Given the description of an element on the screen output the (x, y) to click on. 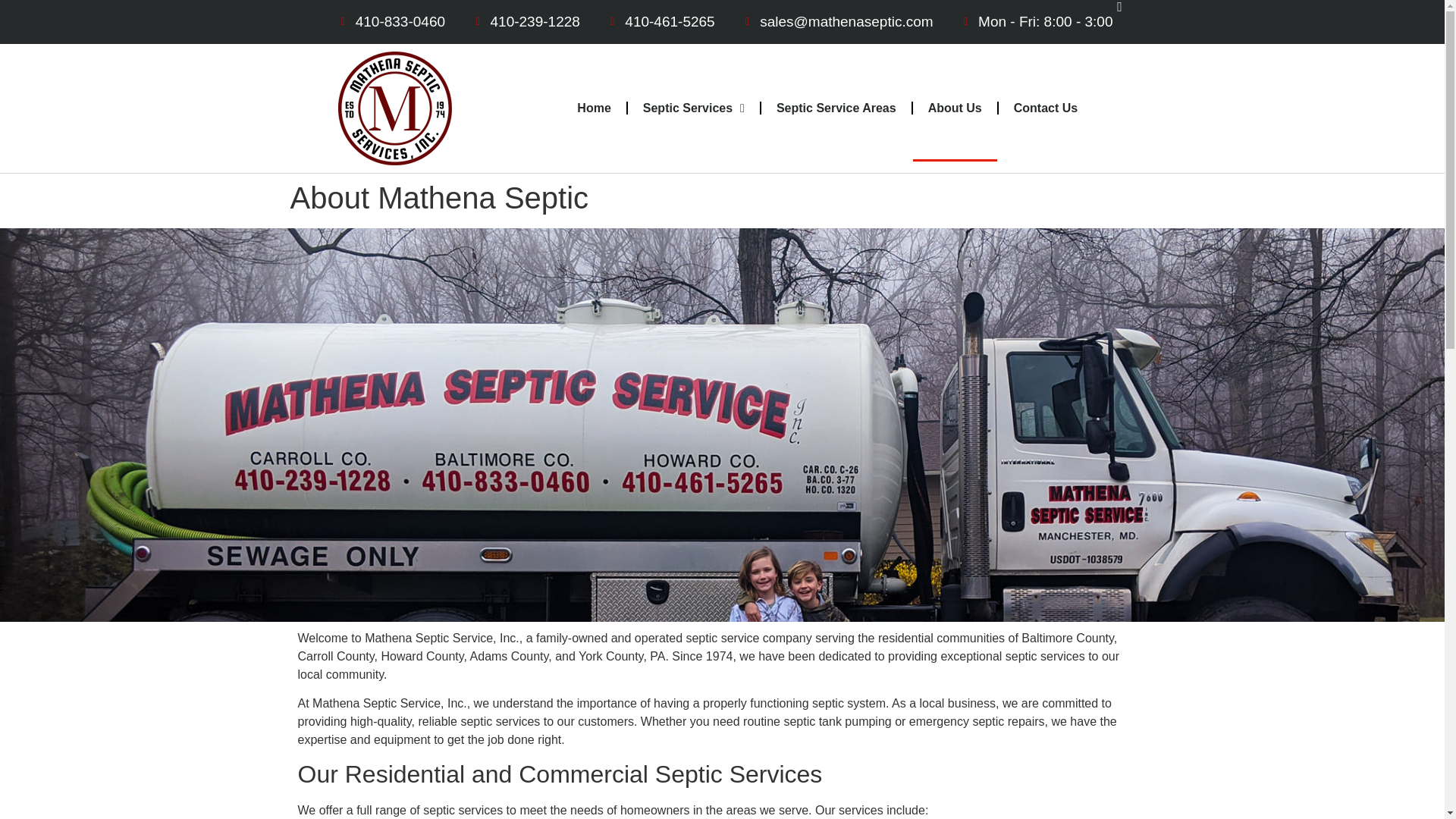
Septic Service Areas (836, 108)
Septic Services (693, 108)
